Given the description of an element on the screen output the (x, y) to click on. 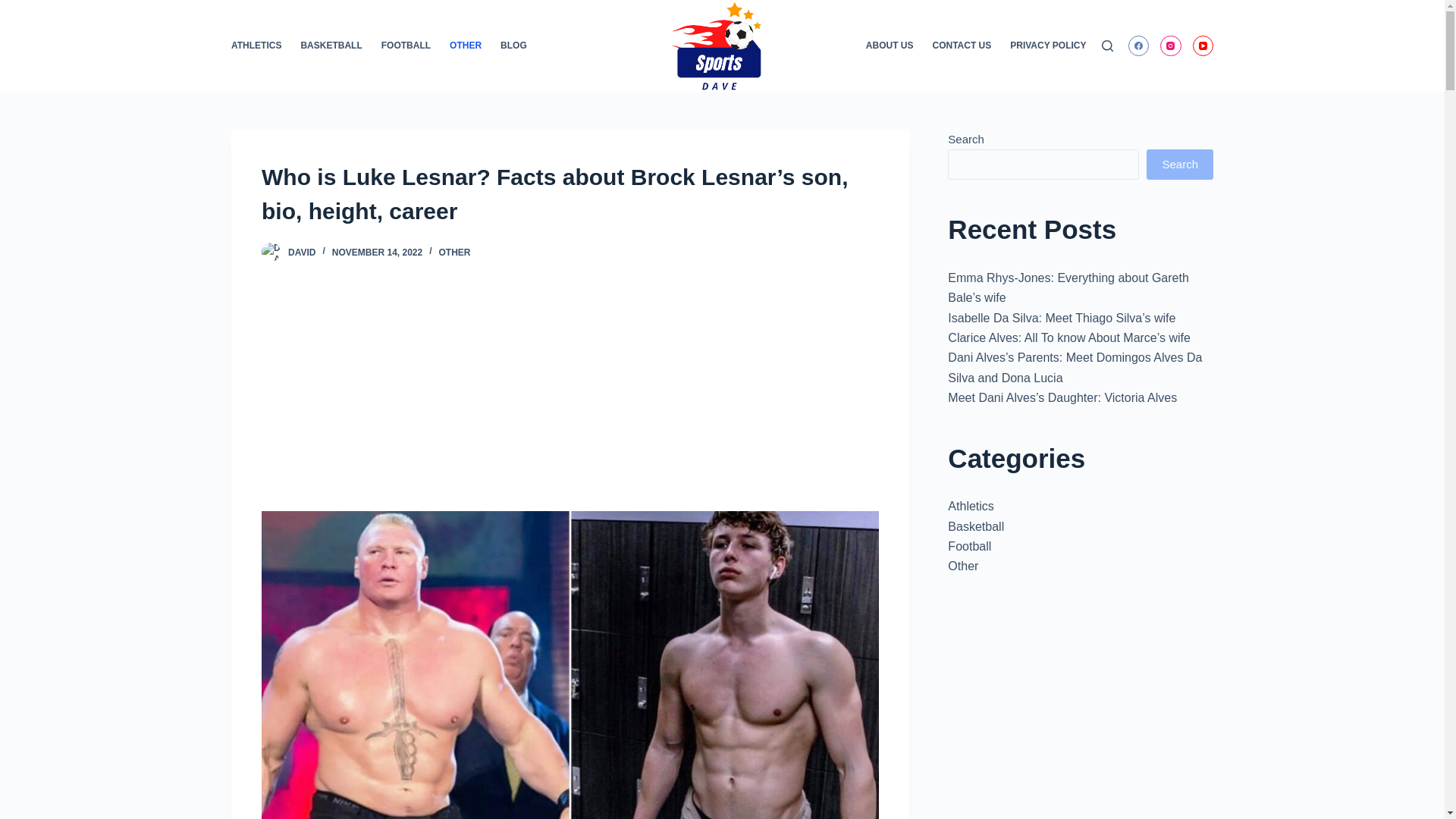
OTHER (454, 252)
Posts by David (301, 252)
PRIVACY POLICY (1043, 45)
DAVID (301, 252)
Skip to content (15, 7)
Advertisement (570, 398)
